Given the description of an element on the screen output the (x, y) to click on. 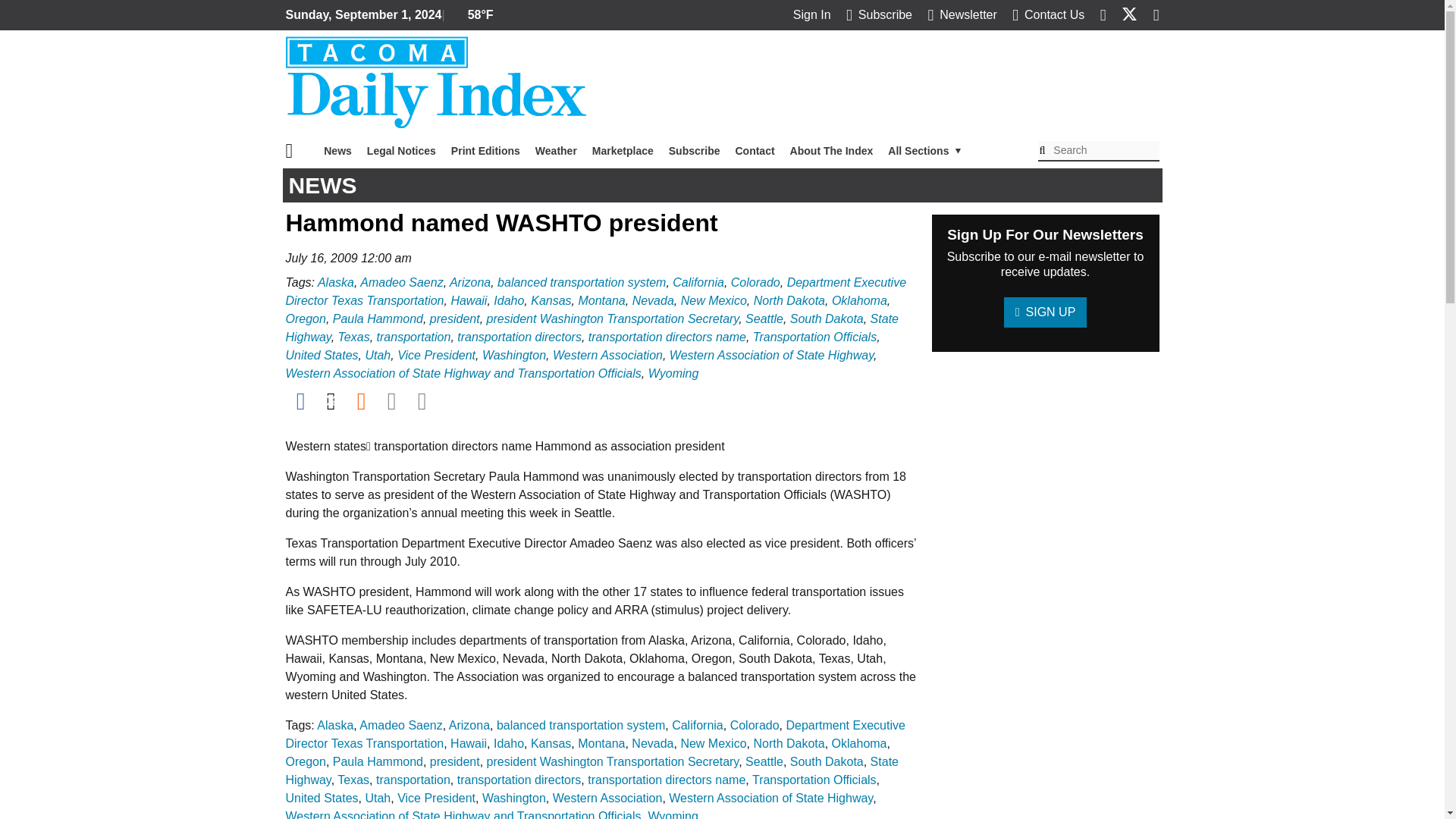
Subscribe (694, 150)
Post to Twitter (330, 401)
News (337, 150)
Print story (421, 401)
Find Us On Twitter (1129, 14)
Subscribe (878, 14)
Legal Notices (401, 150)
Post to Reddit (360, 401)
Tacoma Daily Index (435, 81)
Post to Facebook (300, 401)
